Given the description of an element on the screen output the (x, y) to click on. 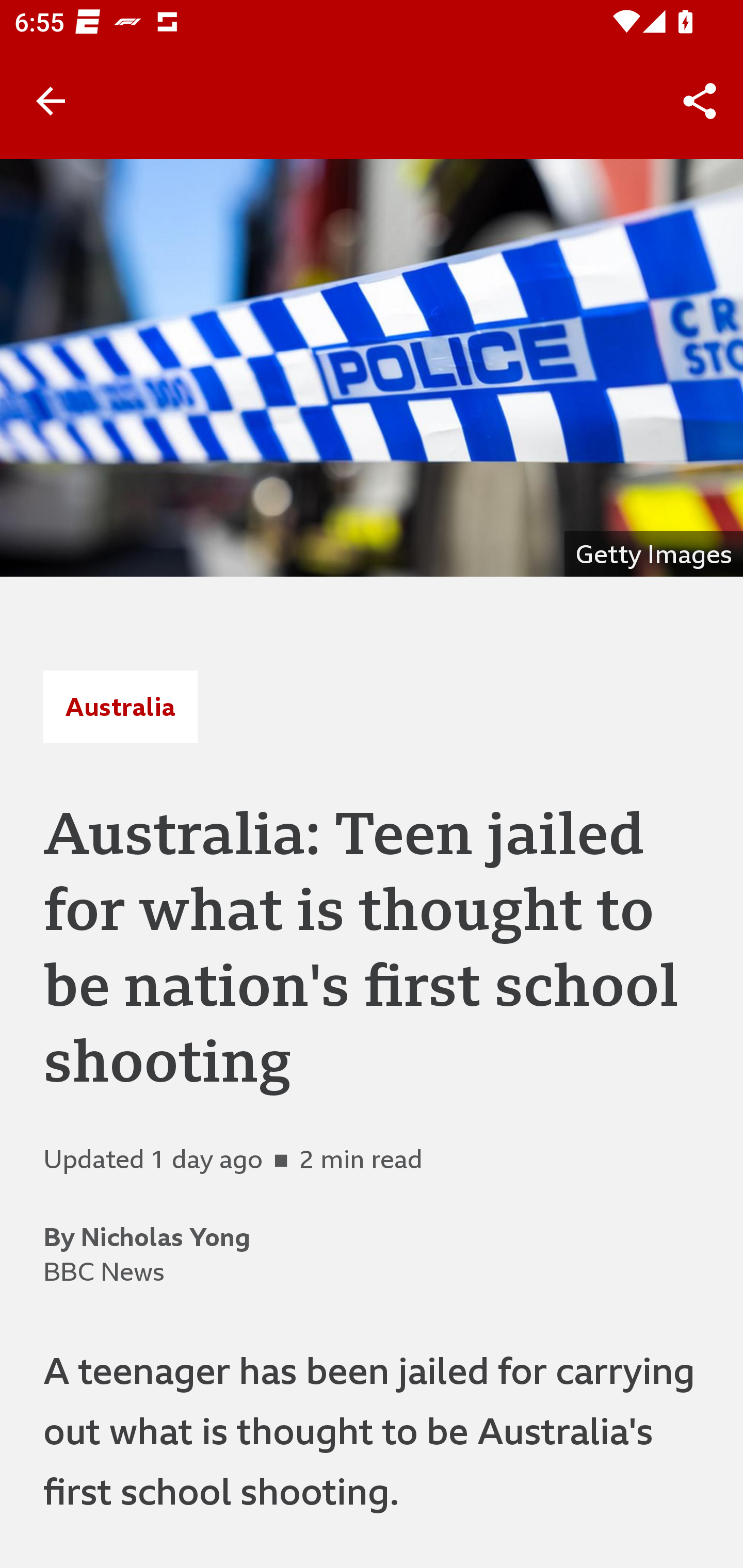
Back (50, 101)
Share (699, 101)
Australia (120, 706)
